Given the description of an element on the screen output the (x, y) to click on. 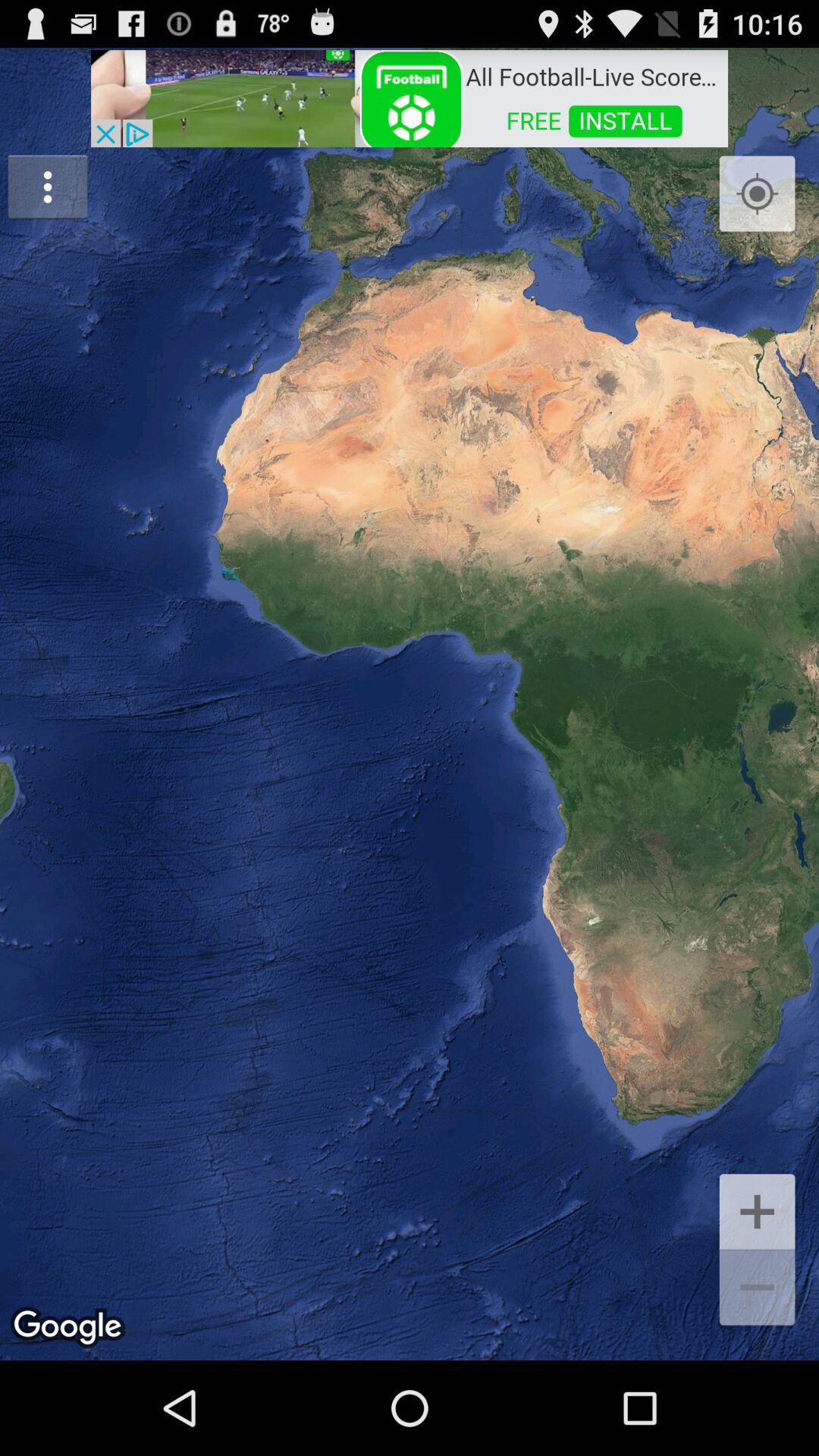
view advertisement website (409, 97)
